Given the description of an element on the screen output the (x, y) to click on. 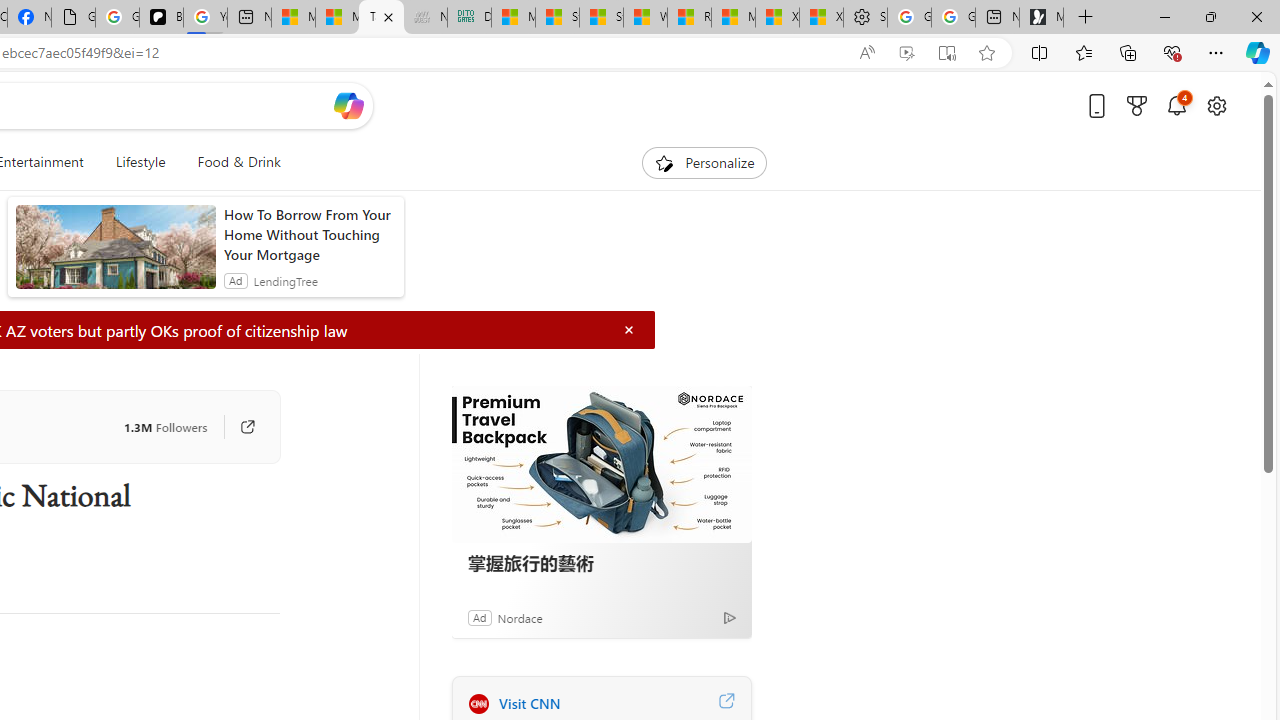
DITOGAMES AG Imprint (469, 17)
Hide (629, 329)
Food & Drink (239, 162)
Stocks - MSN (601, 17)
